Given the description of an element on the screen output the (x, y) to click on. 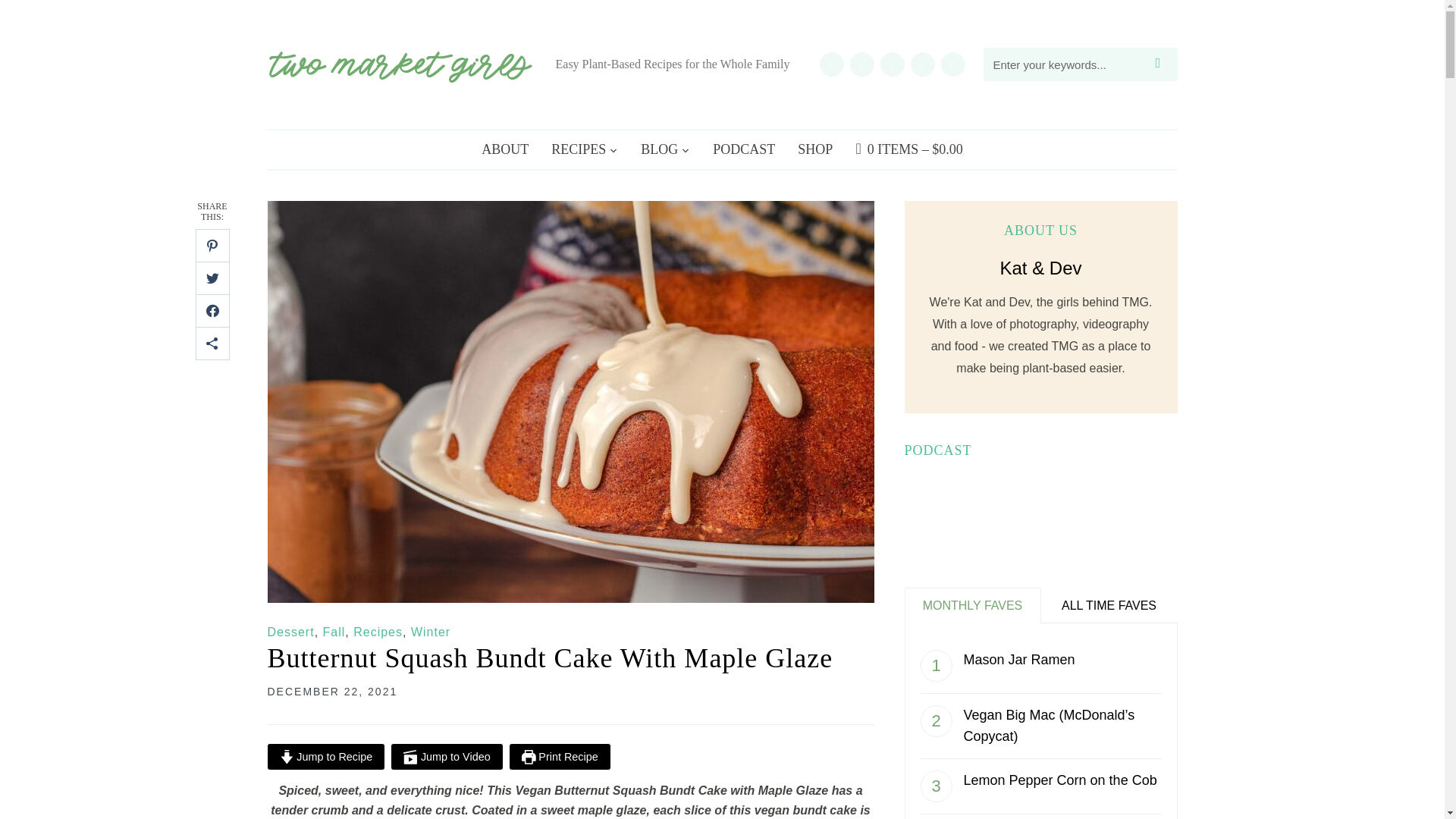
facebook (951, 62)
Click to share on Facebook (212, 310)
twitter (922, 62)
Twitter (922, 62)
youtube (860, 62)
Default Label (891, 62)
pinterest (891, 62)
Facebook (951, 62)
Default Label (860, 62)
instagram (830, 62)
